Given the description of an element on the screen output the (x, y) to click on. 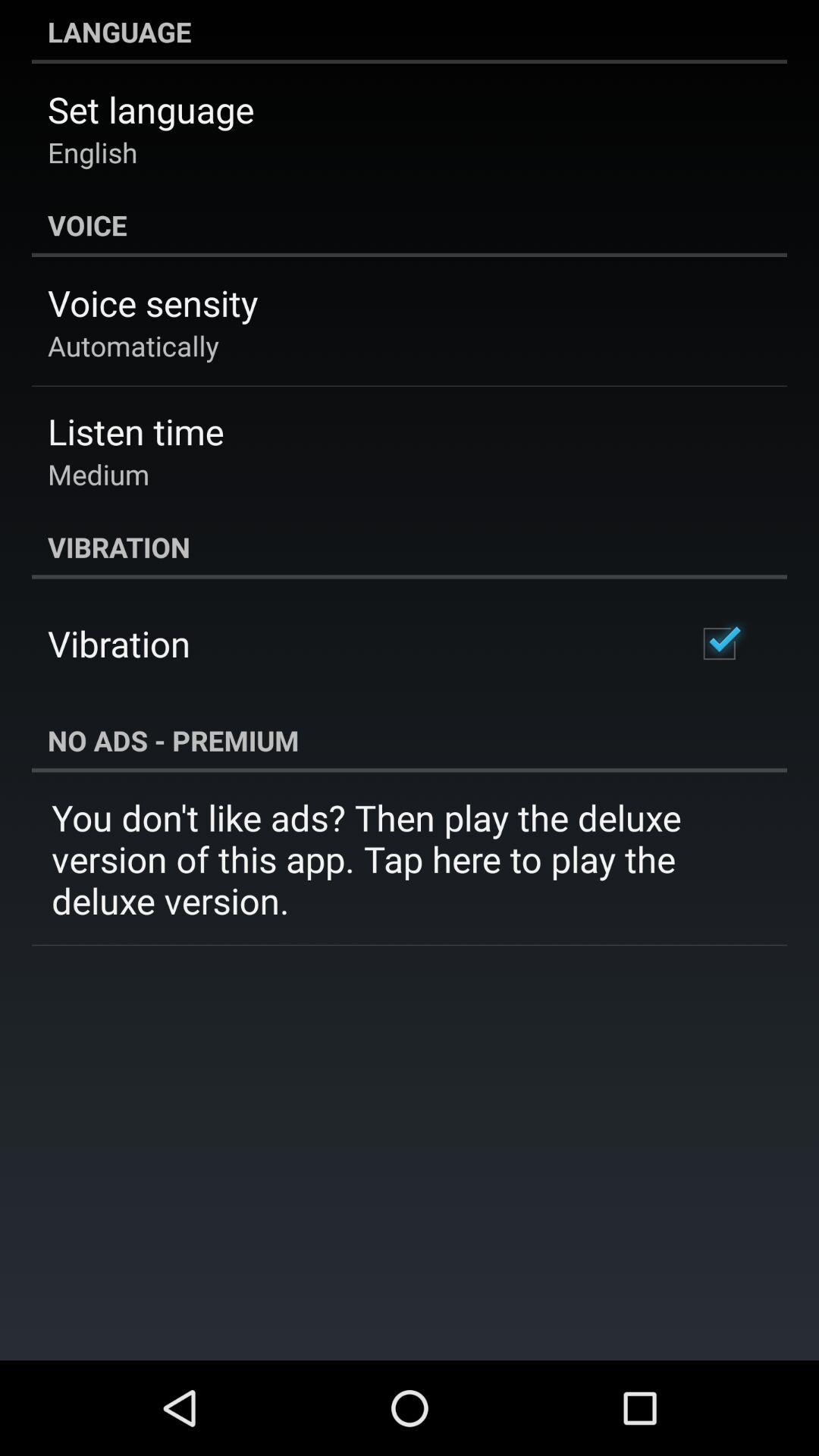
tap listen time icon (135, 431)
